Given the description of an element on the screen output the (x, y) to click on. 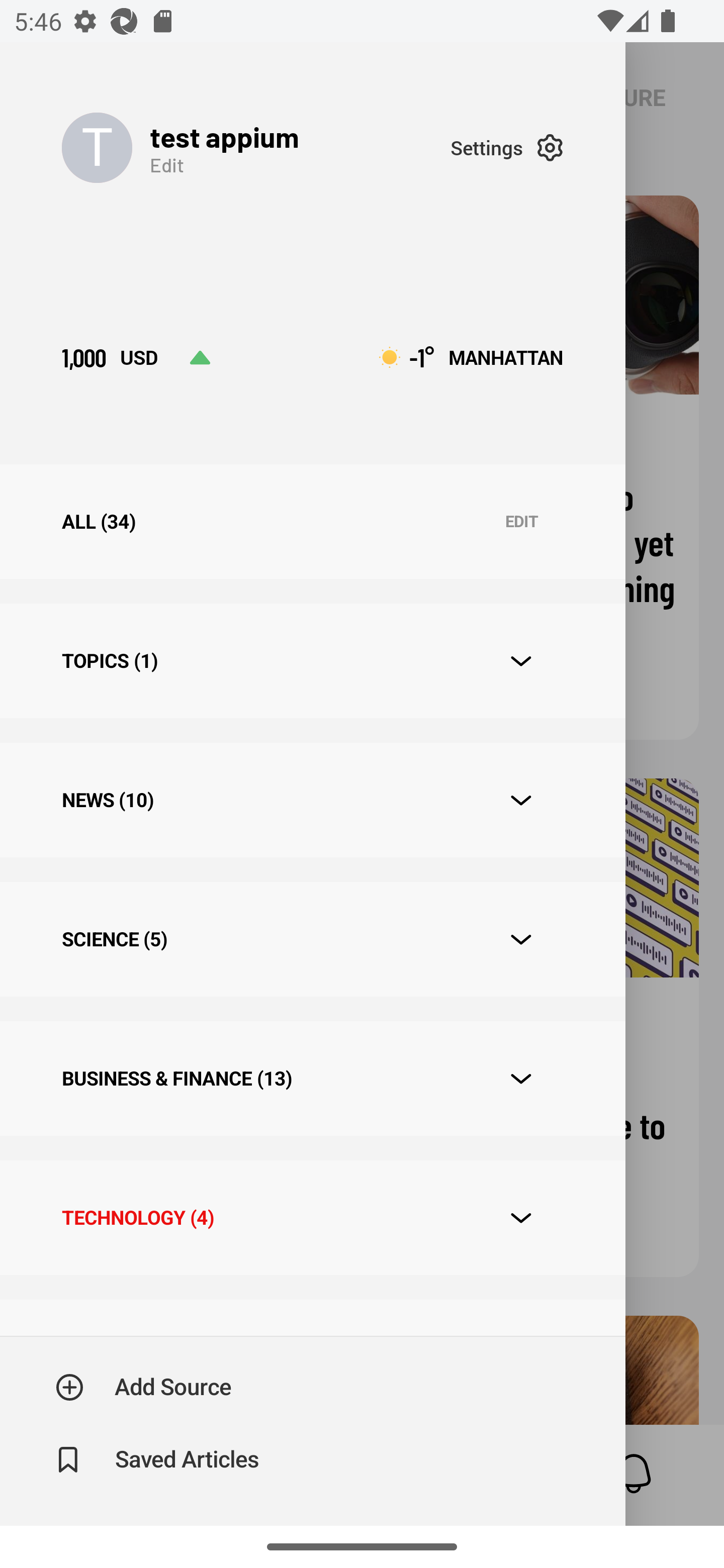
T test appium Edit (255, 147)
Settings Select News Style (506, 147)
1,000 USD Current State of the Currency (135, 357)
Current State of the Weather -1° MANHATTAN (471, 357)
ALL  (34) EDIT (312, 521)
EDIT (521, 521)
TOPICS  (1) Expand Button (312, 660)
Expand Button (521, 661)
NEWS  (10) Expand Button (312, 800)
Expand Button (521, 800)
SCIENCE  (5) Expand Button (312, 939)
Expand Button (521, 938)
BUSINESS & FINANCE  (13) Expand Button (312, 1077)
Expand Button (521, 1078)
TECHNOLOGY  (4) Expand Button (312, 1217)
Expand Button (521, 1218)
Open Content Store Add Source (143, 1387)
Open Saved News  Saved Articles (158, 1459)
